Given the description of an element on the screen output the (x, y) to click on. 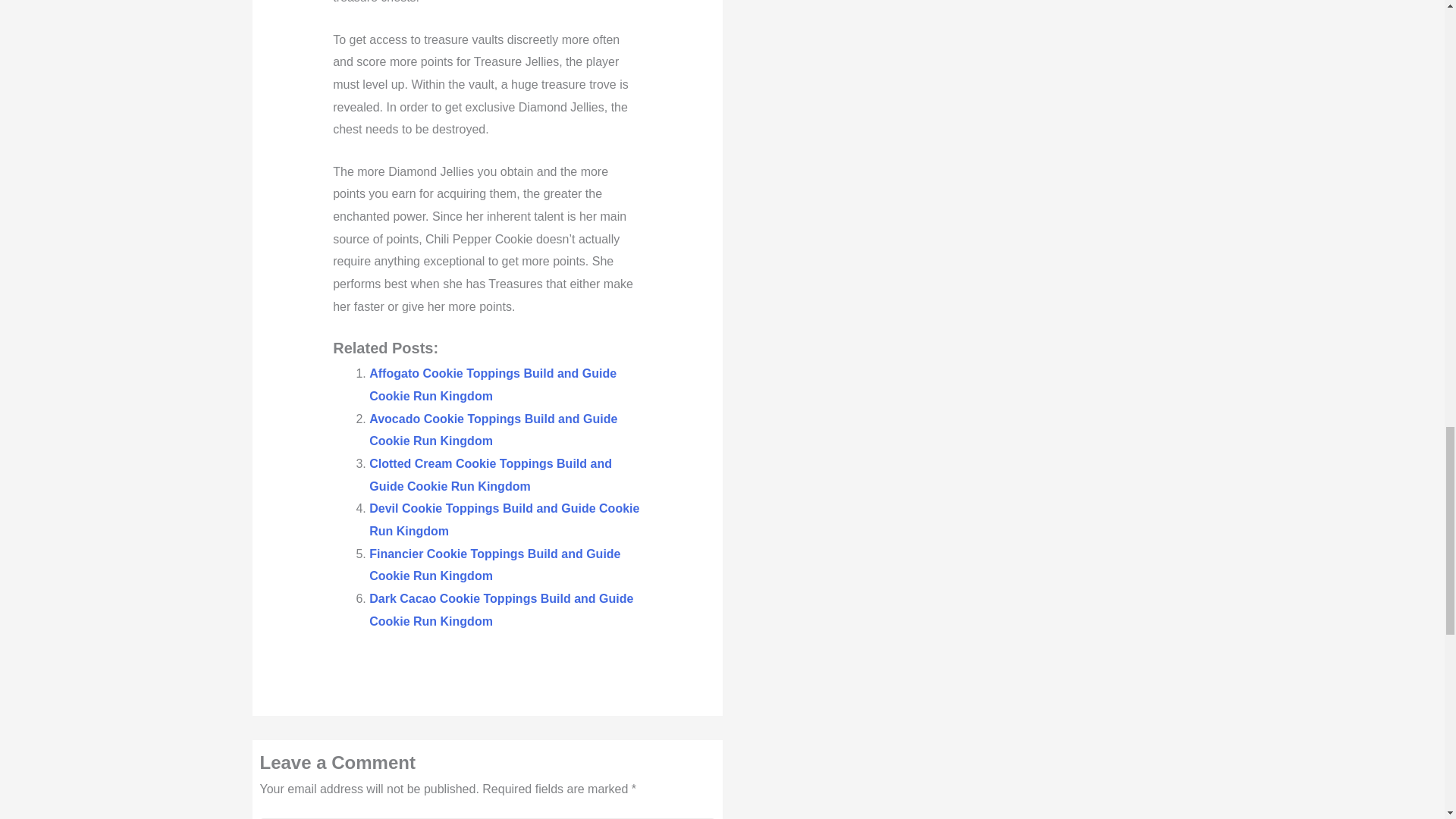
Affogato Cookie Toppings Build and Guide Cookie Run Kingdom (492, 384)
Avocado Cookie Toppings Build and Guide Cookie Run Kingdom (493, 429)
Financier Cookie Toppings Build and Guide Cookie Run Kingdom (494, 565)
Devil Cookie Toppings Build and Guide Cookie Run Kingdom (504, 519)
Affogato Cookie Toppings Build and Guide Cookie Run Kingdom (492, 384)
Devil Cookie Toppings Build and Guide Cookie Run Kingdom (504, 519)
Financier Cookie Toppings Build and Guide Cookie Run Kingdom (494, 565)
